Given the description of an element on the screen output the (x, y) to click on. 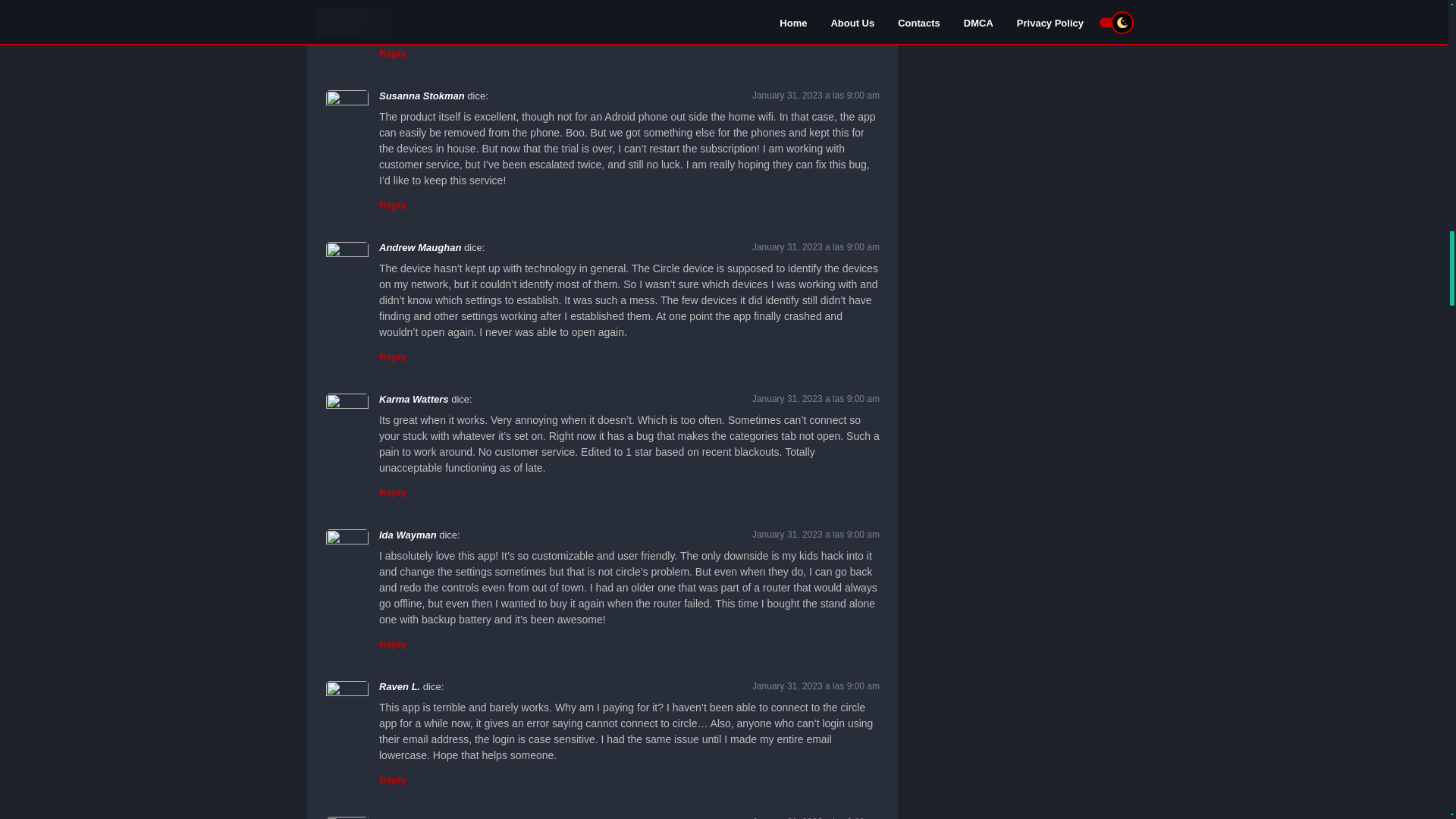
Reply (392, 52)
Andrew Maughan (419, 247)
Reply (392, 204)
Susanna Stokman (421, 95)
January 31, 2023 a las 9:00 am (815, 95)
January 31, 2023 a las 9:00 am (815, 246)
